Given the description of an element on the screen output the (x, y) to click on. 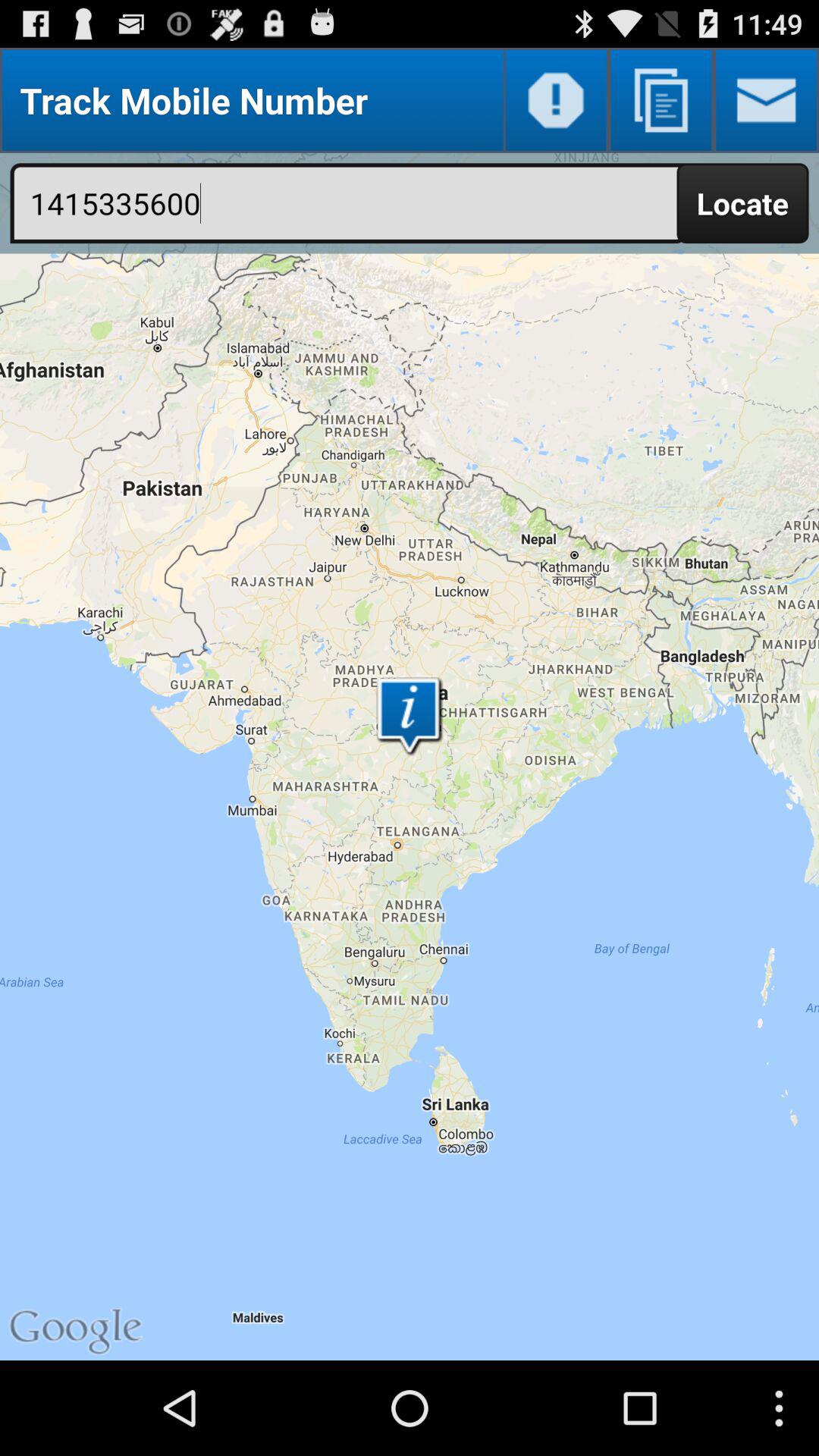
choose another screen (660, 99)
